Given the description of an element on the screen output the (x, y) to click on. 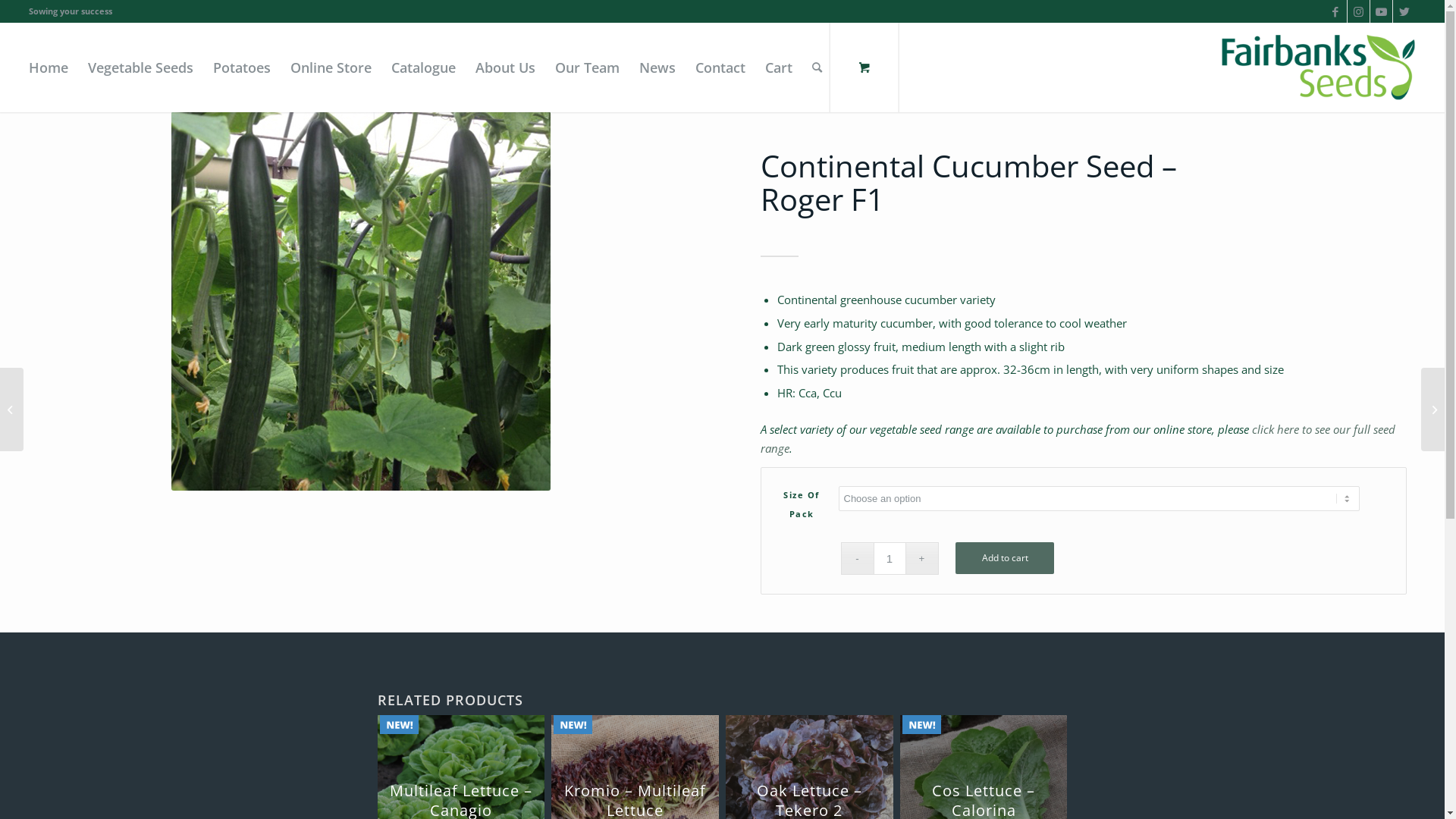
Contact Element type: text (720, 67)
About Us Element type: text (505, 67)
Facebook Element type: hover (1335, 11)
Roger1 Element type: hover (360, 300)
Logo Element type: hover (1317, 67)
Instagram Element type: hover (1358, 11)
Potatoes Element type: text (241, 67)
click here to see our full seed range Element type: text (1076, 438)
Add to cart Element type: text (1004, 557)
Twitter Element type: hover (1404, 11)
Our Team Element type: text (587, 67)
Online Store Element type: text (330, 67)
Home Element type: text (48, 67)
News Element type: text (657, 67)
Vegetable Seeds Element type: text (140, 67)
Cart Element type: text (778, 67)
Youtube Element type: hover (1381, 11)
Catalogue Element type: text (423, 67)
